Given the description of an element on the screen output the (x, y) to click on. 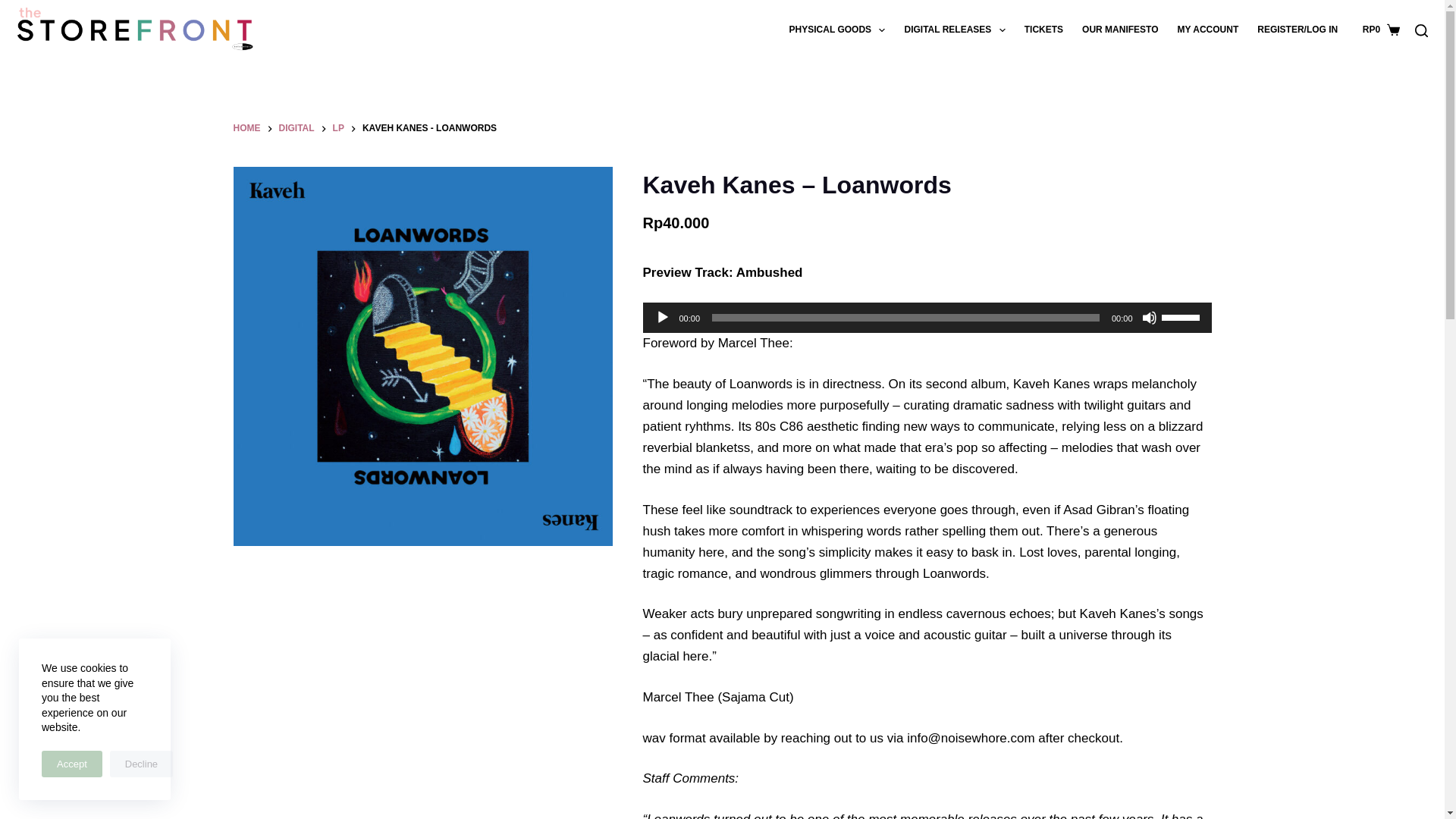
Play (662, 317)
Skip to content (15, 7)
Accept (71, 764)
PHYSICAL GOODS (836, 30)
Decline (141, 764)
DIGITAL RELEASES (954, 30)
Mute (1149, 317)
